Given the description of an element on the screen output the (x, y) to click on. 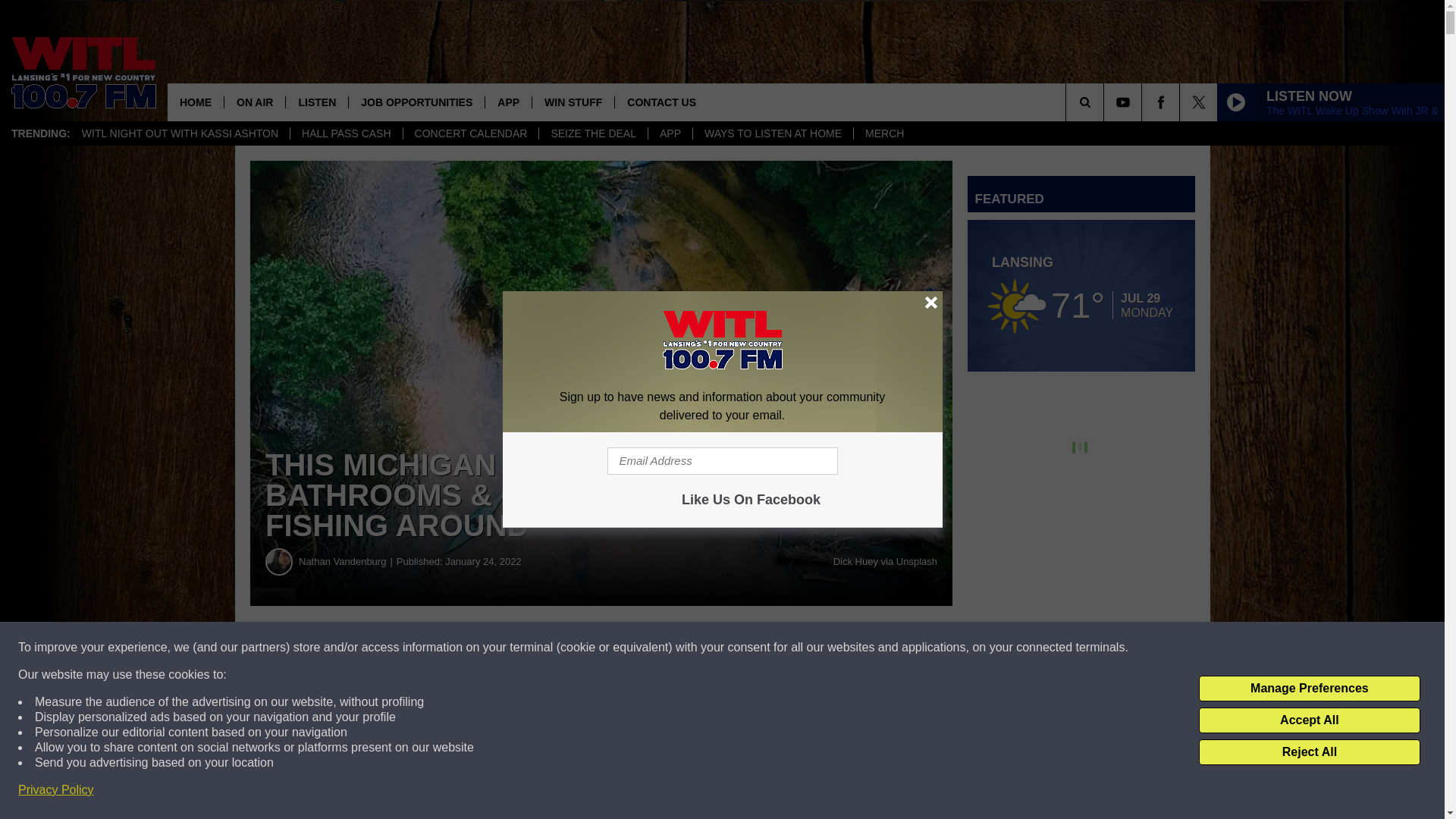
APP (507, 102)
Email Address (722, 461)
LISTEN (316, 102)
Privacy Policy (55, 789)
SEARCH (1106, 102)
Share on Twitter (741, 647)
WIN STUFF (572, 102)
Accept All (1309, 720)
MERCH (884, 133)
WITL NIGHT OUT WITH KASSI ASHTON (179, 133)
HOME (195, 102)
CONCERT CALENDAR (470, 133)
SEARCH (1106, 102)
CONTACT US (660, 102)
SEIZE THE DEAL (592, 133)
